Given the description of an element on the screen output the (x, y) to click on. 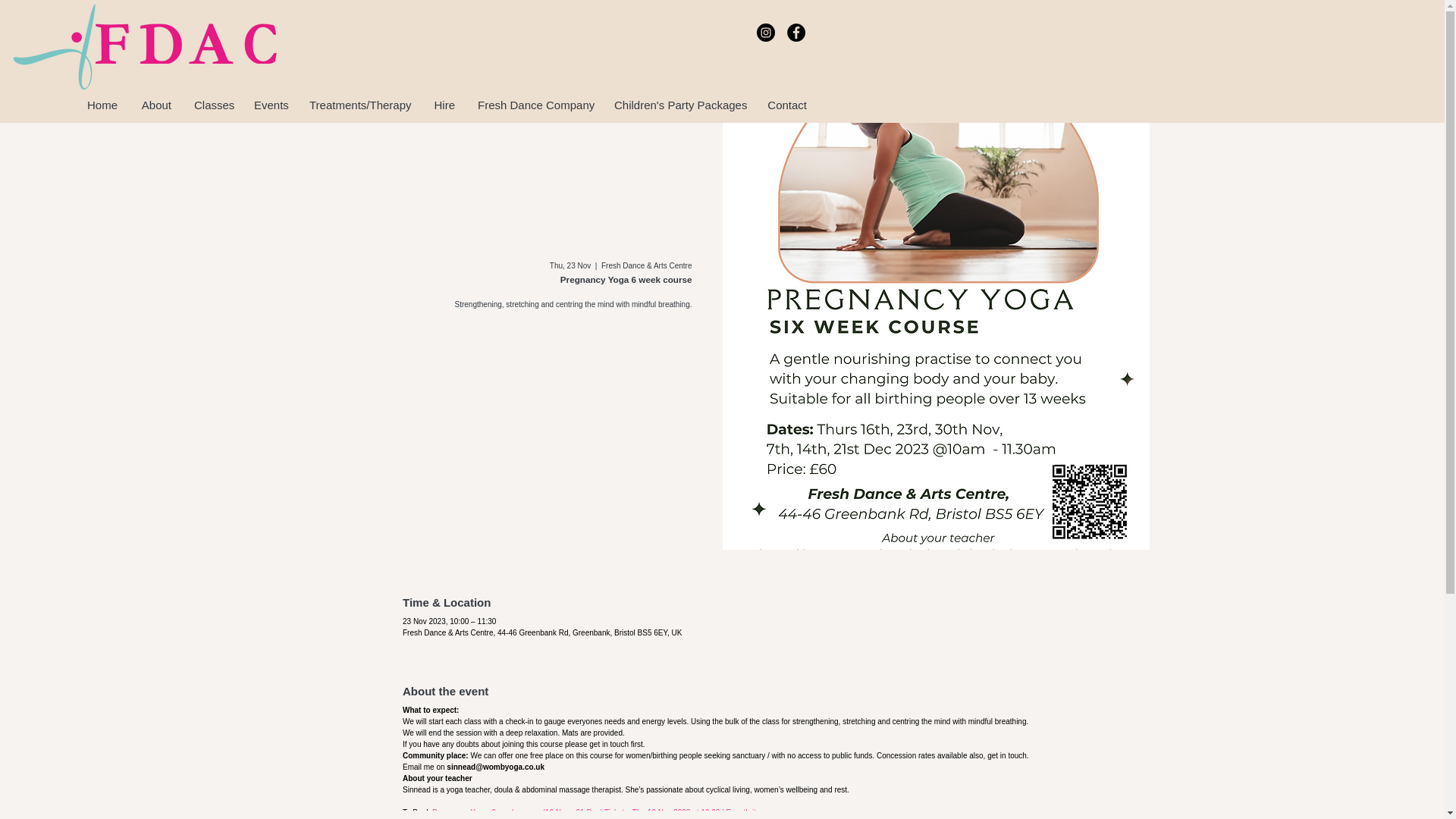
About (156, 105)
Events (270, 105)
Hire (443, 105)
Contact (786, 105)
Children's Party Packages (678, 105)
See other events (585, 384)
Fresh Dance Company (533, 105)
Home (102, 105)
Classes (213, 105)
